Given the description of an element on the screen output the (x, y) to click on. 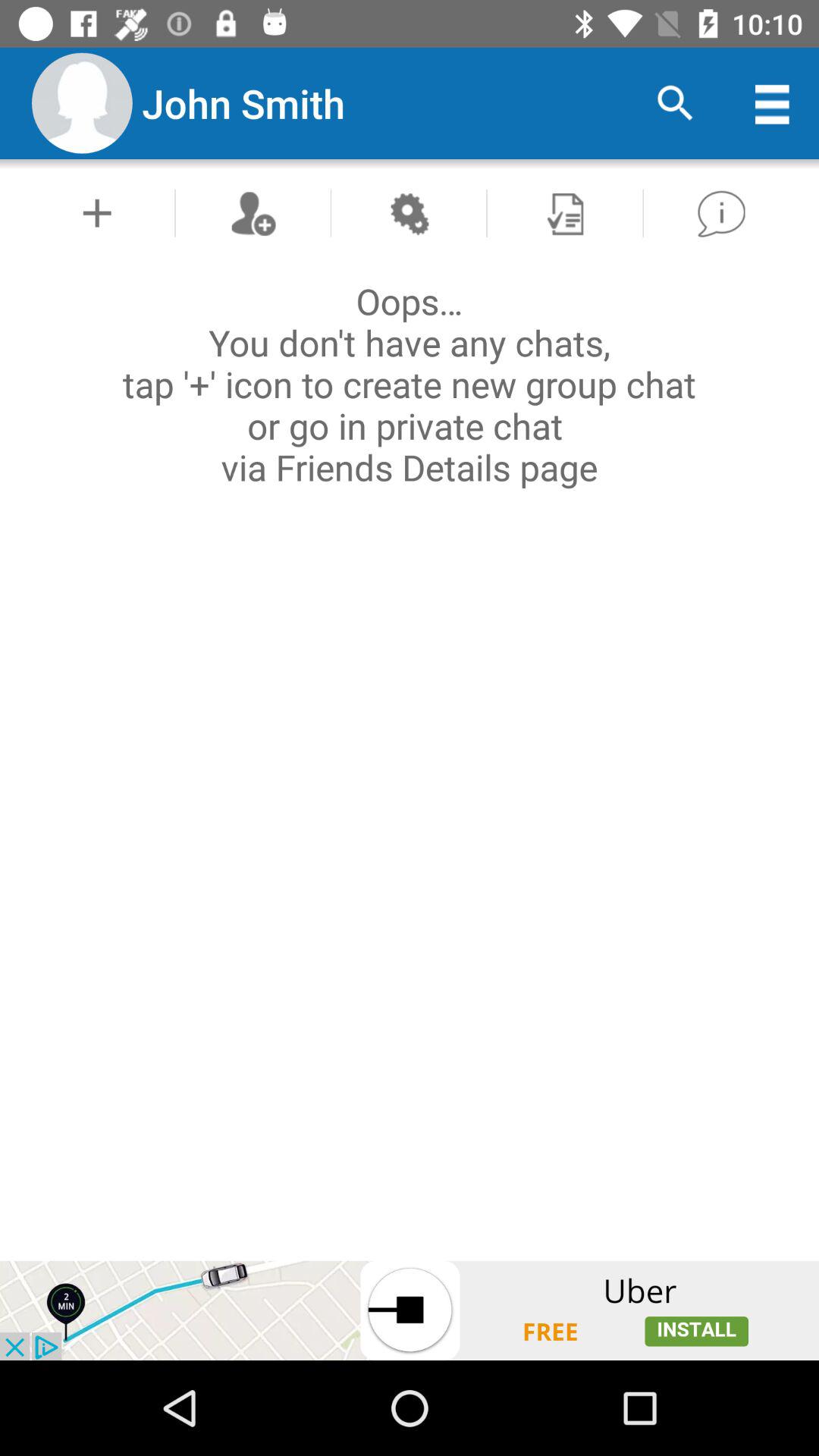
settings (408, 213)
